Given the description of an element on the screen output the (x, y) to click on. 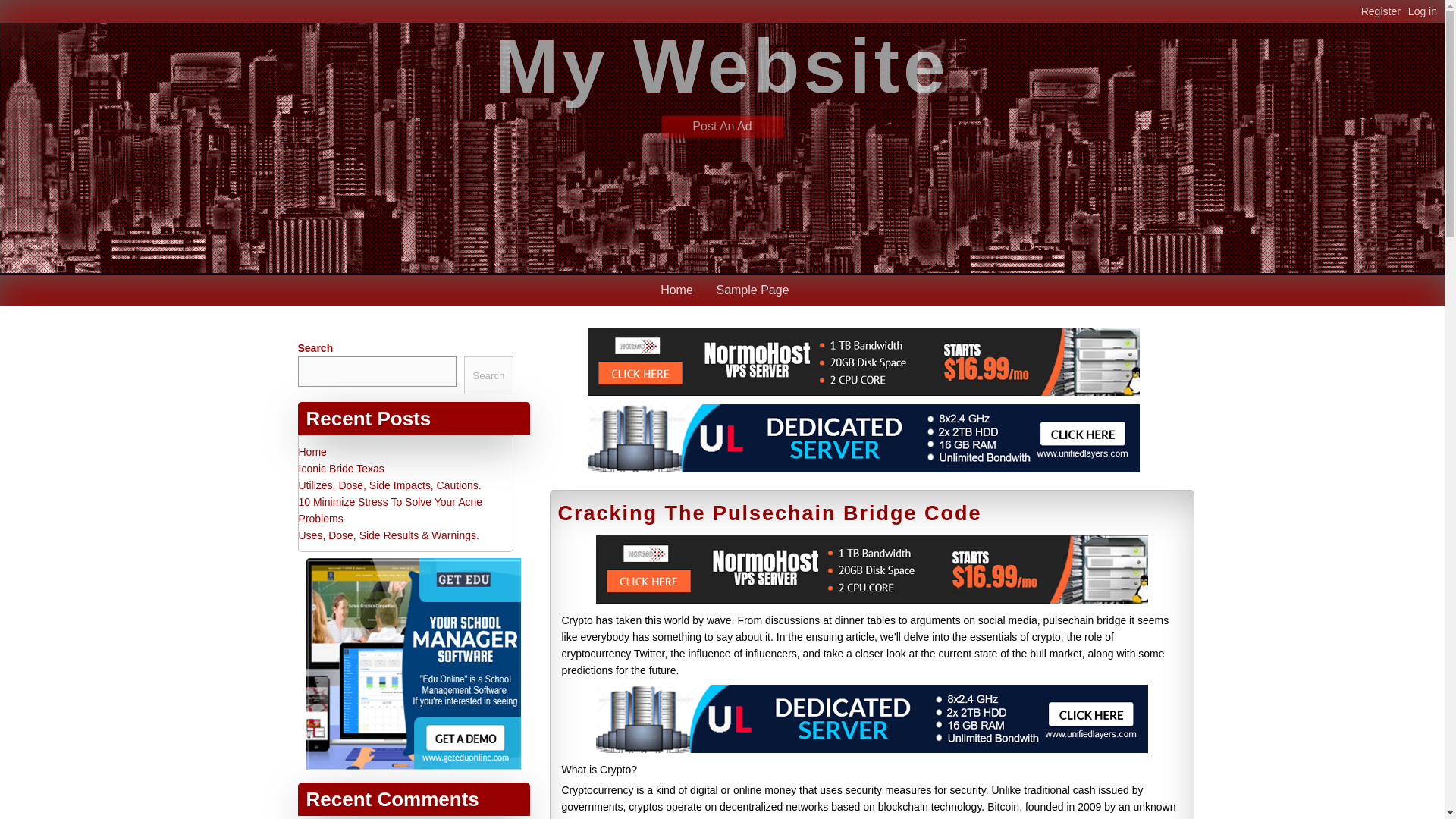
Post An Ad (722, 125)
Home (676, 290)
10 Minimize Stress To Solve Your Acne Problems (390, 510)
Home (312, 451)
Register (1384, 10)
Sample Page (751, 290)
Search (488, 374)
Iconic Bride Texas (341, 468)
Utilizes, Dose, Side Impacts, Cautions. (389, 485)
Cracking The Pulsechain Bridge Code (769, 513)
